Given the description of an element on the screen output the (x, y) to click on. 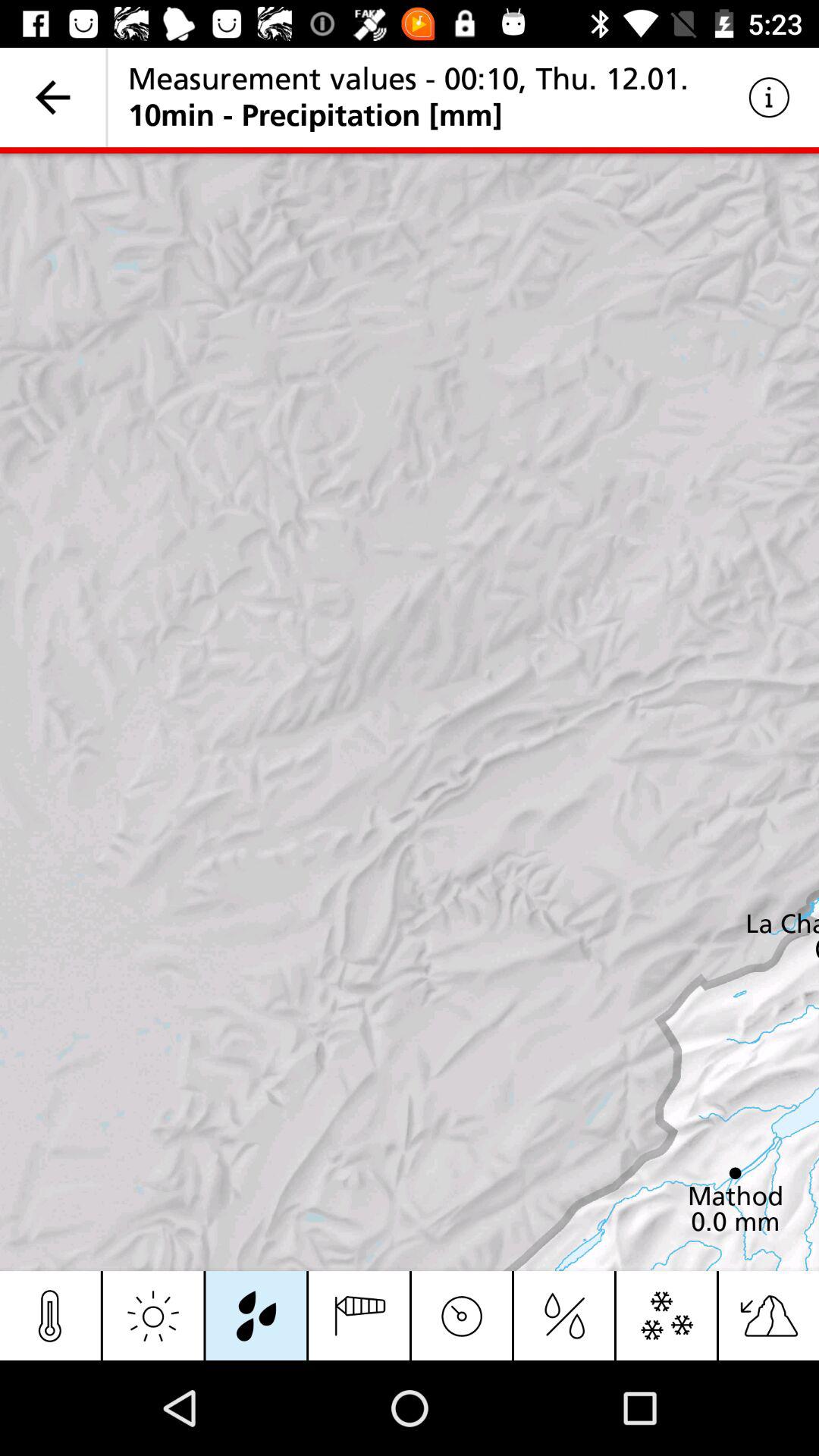
choose icon at the top right corner (769, 97)
